Given the description of an element on the screen output the (x, y) to click on. 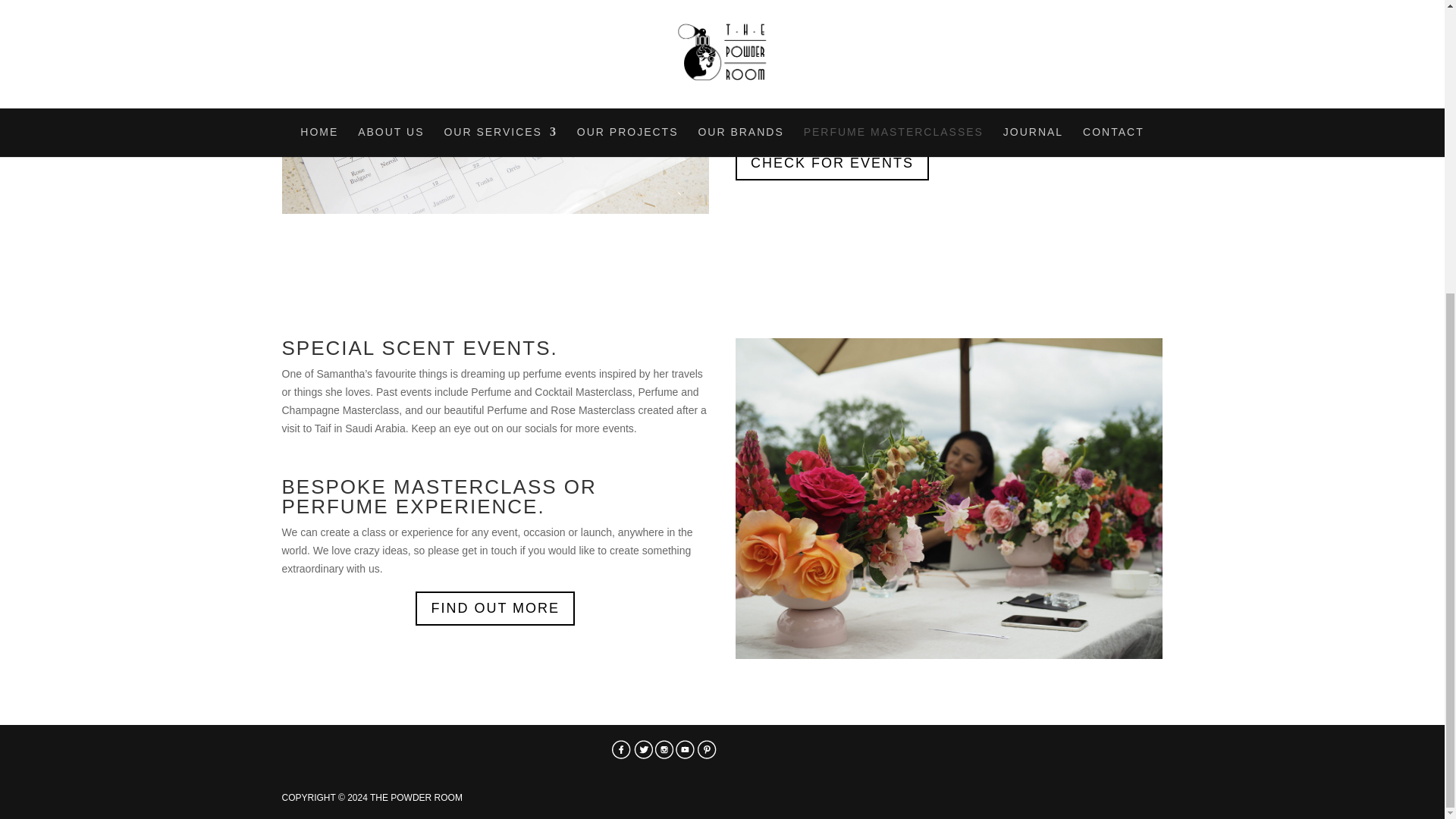
FIND OUT MORE (494, 608)
CHECK FOR EVENTS (831, 163)
Language of Perfumery (496, 106)
